Given the description of an element on the screen output the (x, y) to click on. 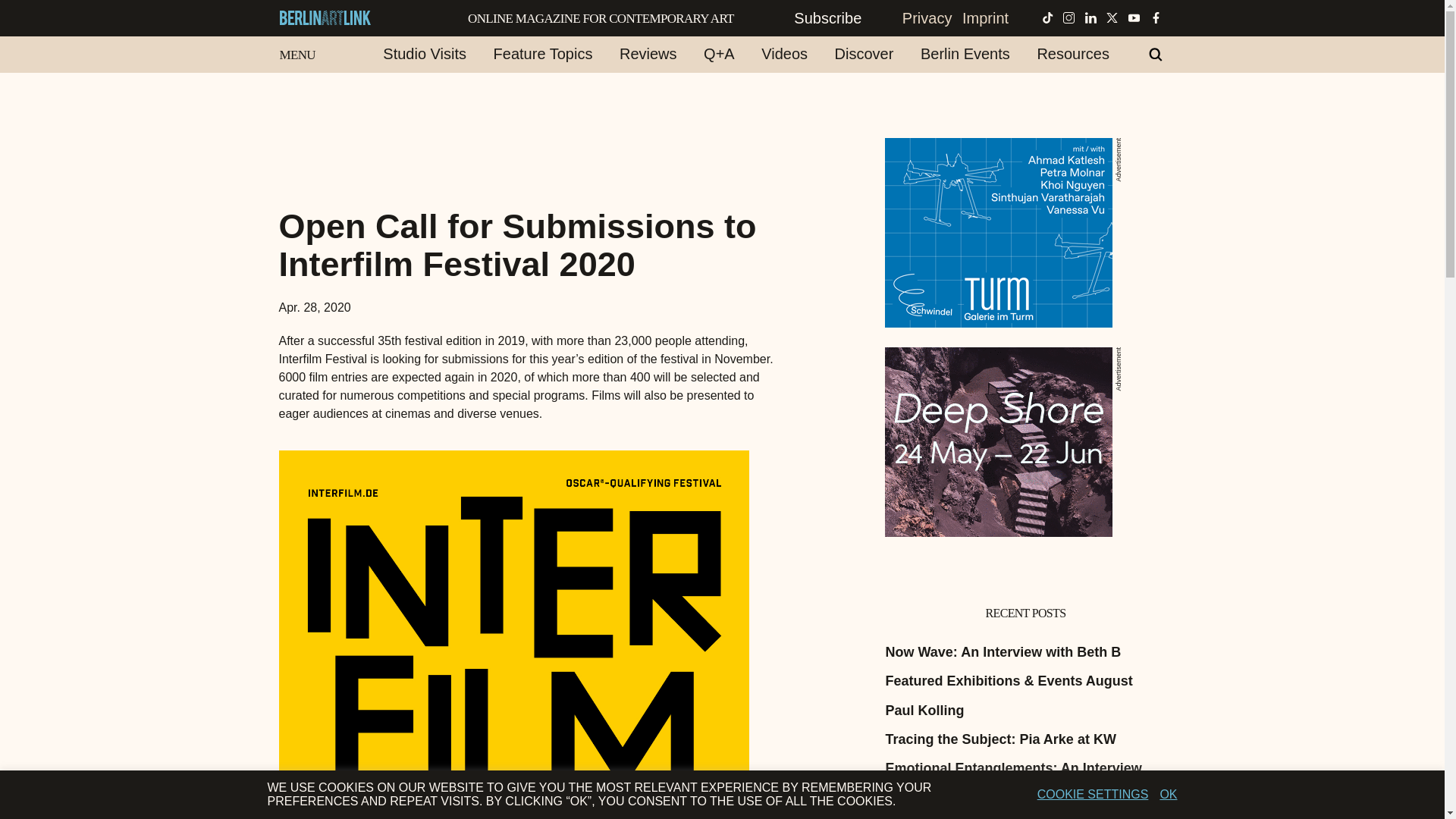
Discover (863, 53)
Privacy (927, 18)
Reviews (647, 53)
Resources (1073, 53)
MENU (290, 51)
Feature Topics (543, 53)
Imprint (984, 18)
Berlin Events (965, 53)
Subscribe (842, 18)
Videos (784, 53)
Studio Visits (425, 53)
